Given the description of an element on the screen output the (x, y) to click on. 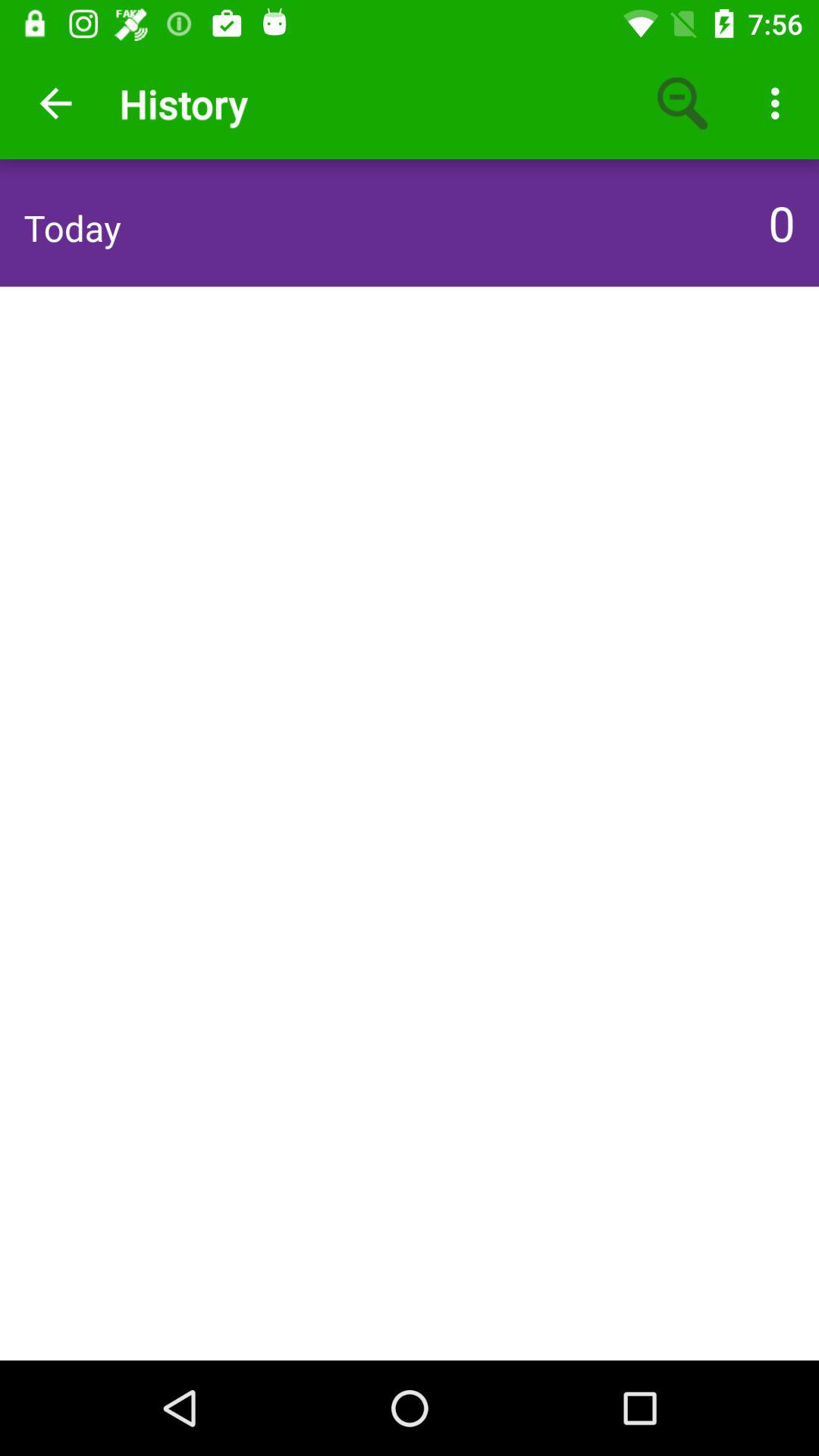
select the icon to the left of 0 item (72, 227)
